Given the description of an element on the screen output the (x, y) to click on. 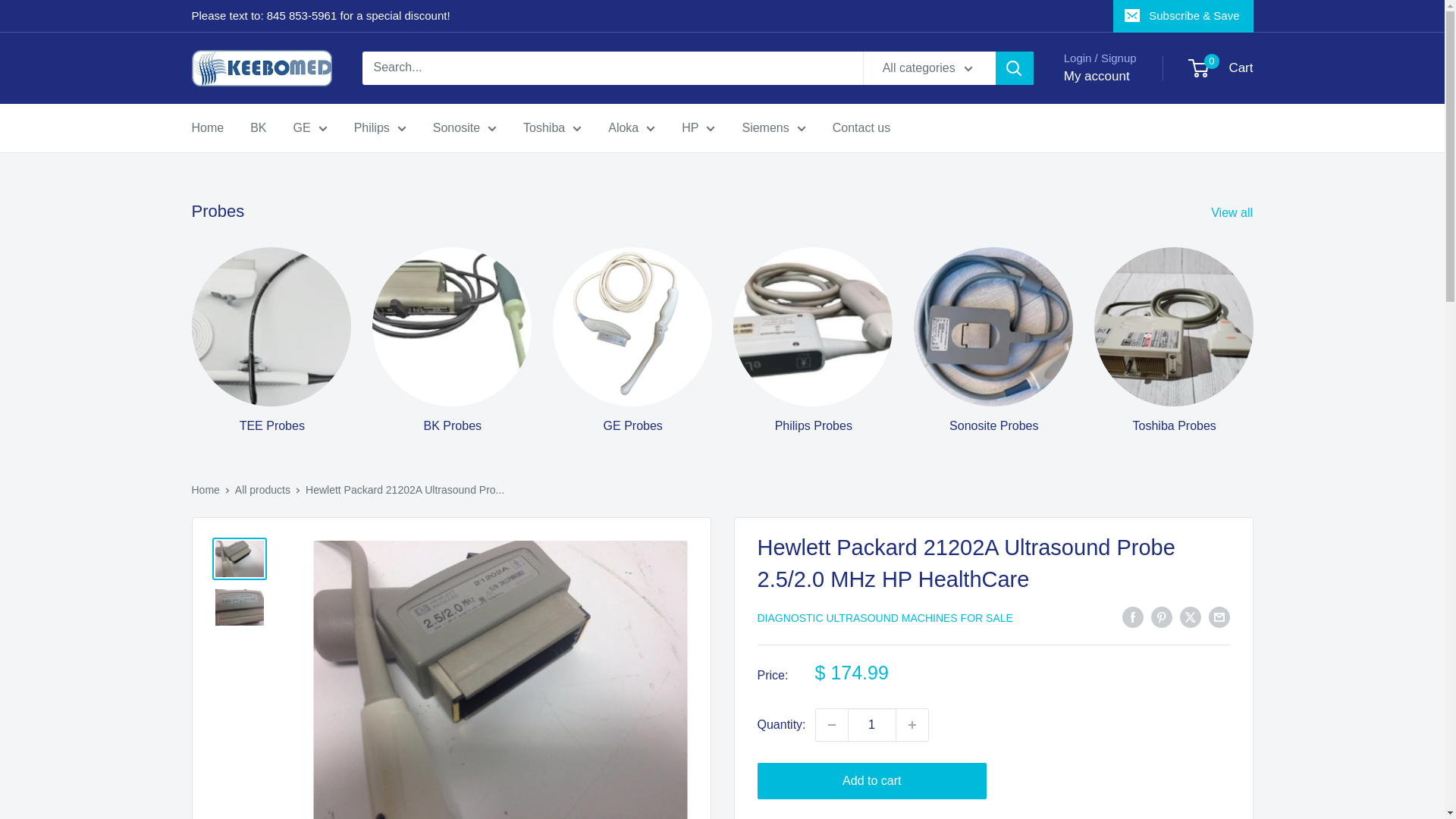
1 (871, 725)
Increase quantity by 1 (912, 725)
Decrease quantity by 1 (831, 725)
